Given the description of an element on the screen output the (x, y) to click on. 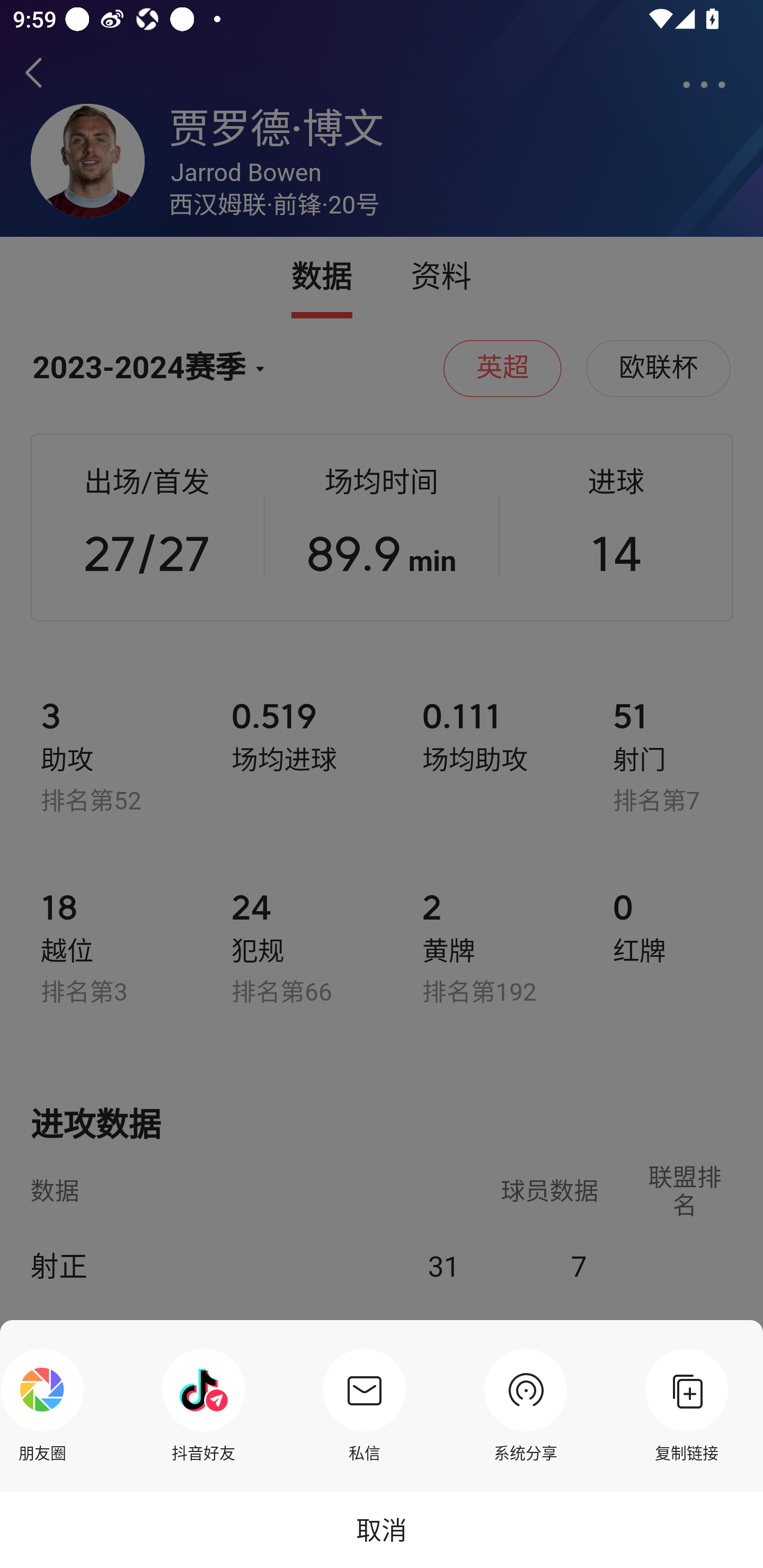
朋友圈 (46, 1405)
抖音好友 (203, 1405)
私信 (364, 1405)
系统分享 (525, 1405)
复制链接 (686, 1405)
取消 (381, 1529)
